Given the description of an element on the screen output the (x, y) to click on. 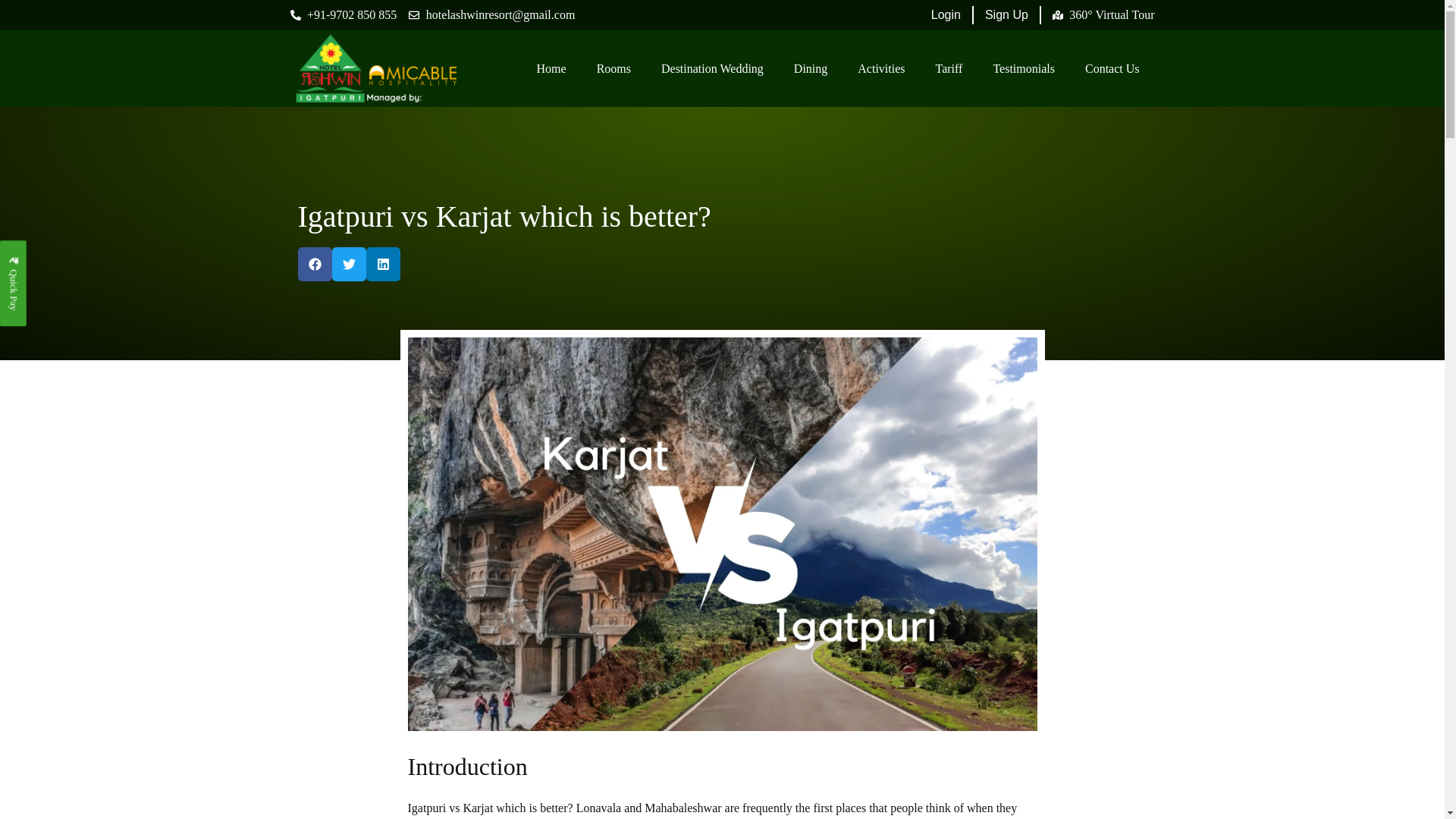
Rooms (613, 68)
Destination Wedding (712, 68)
Quick Pay (42, 253)
Home (550, 68)
Igatpuri vs Karjat which is better? (503, 216)
Dining (810, 68)
Contact Us (1112, 68)
Testimonials (1023, 68)
Activities (881, 68)
Tariff (949, 68)
